Given the description of an element on the screen output the (x, y) to click on. 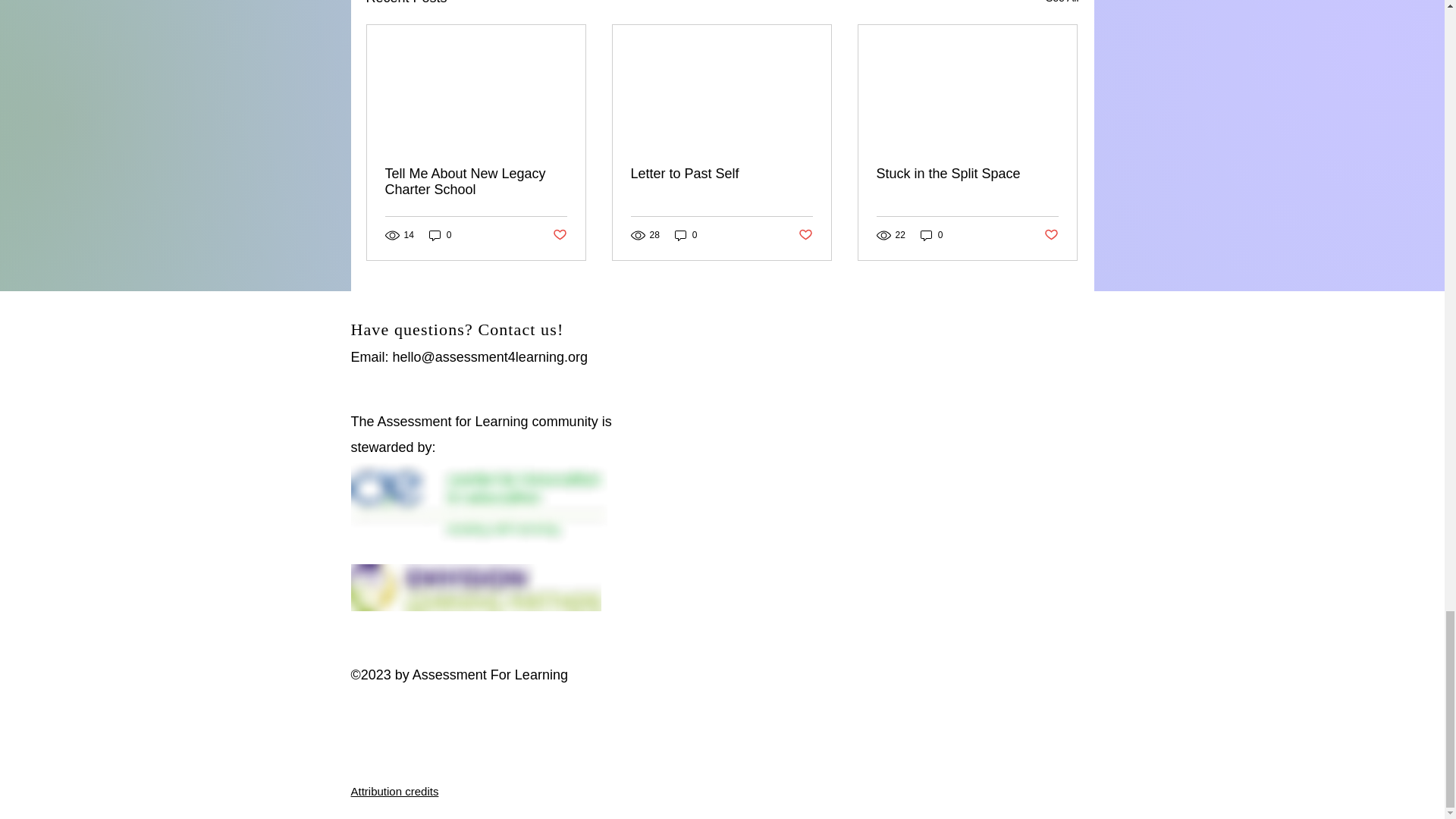
Letter to Past Self (721, 173)
0 (440, 235)
Stuck in the Split Space (967, 173)
Post not marked as liked (1050, 235)
0 (931, 235)
0 (685, 235)
Post not marked as liked (804, 235)
See All (1061, 4)
Post not marked as liked (558, 235)
Tell Me About New Legacy Charter School (476, 182)
